Given the description of an element on the screen output the (x, y) to click on. 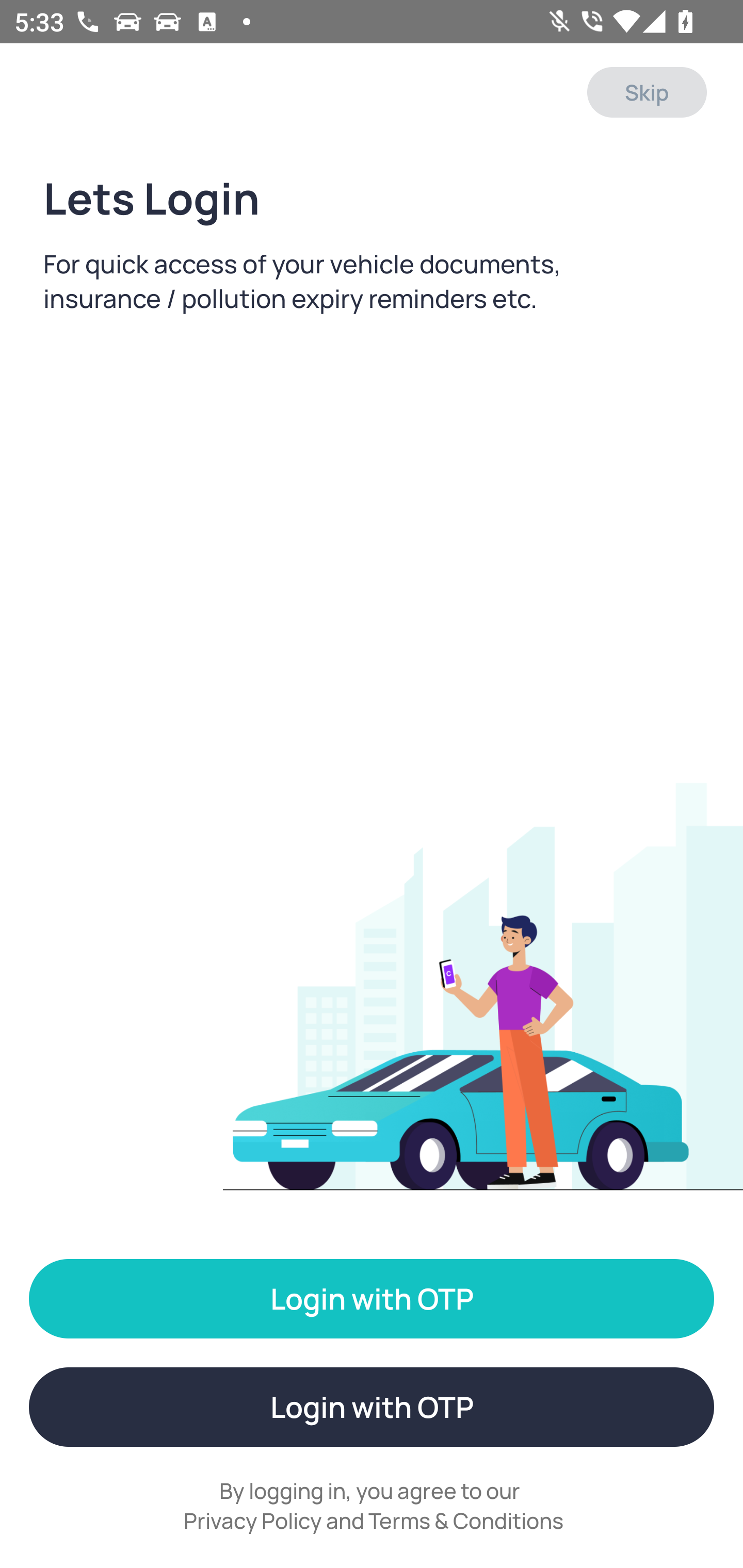
Skip (646, 92)
Login with OTP (371, 1299)
Login with OTP (371, 1407)
